Given the description of an element on the screen output the (x, y) to click on. 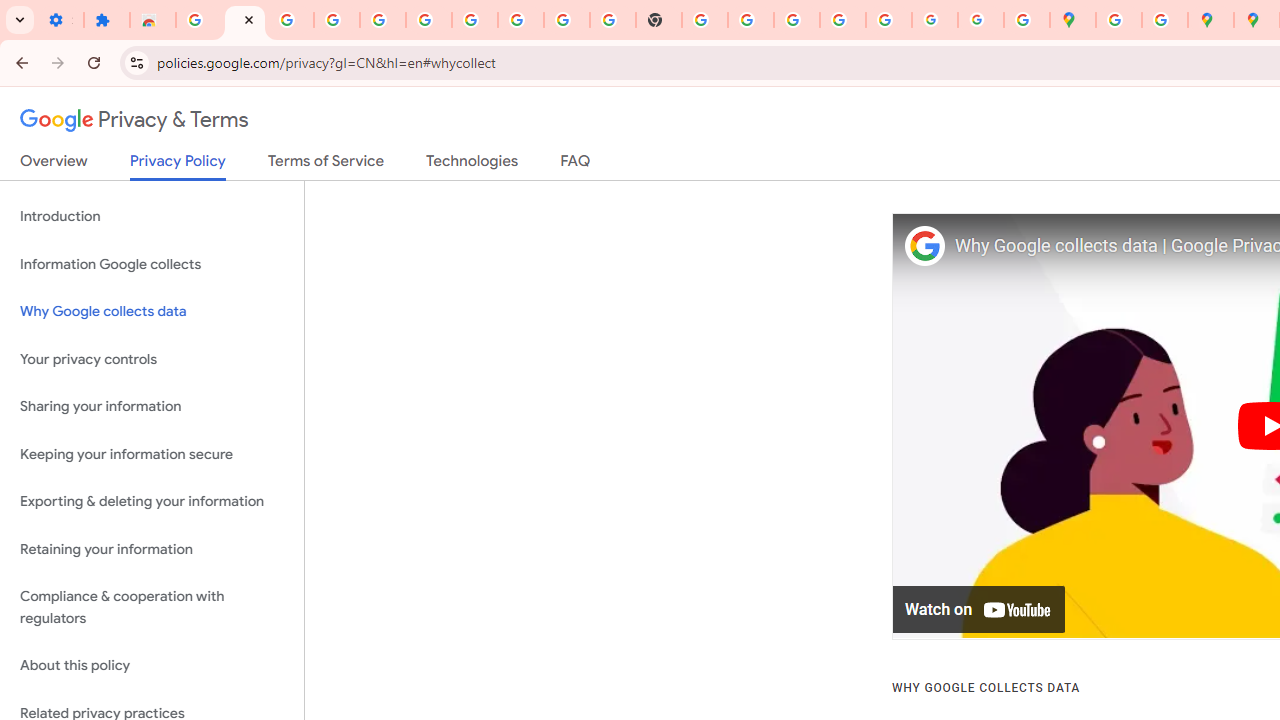
Keeping your information secure (152, 453)
About this policy (152, 666)
YouTube (567, 20)
Information Google collects (152, 263)
